Given the description of an element on the screen output the (x, y) to click on. 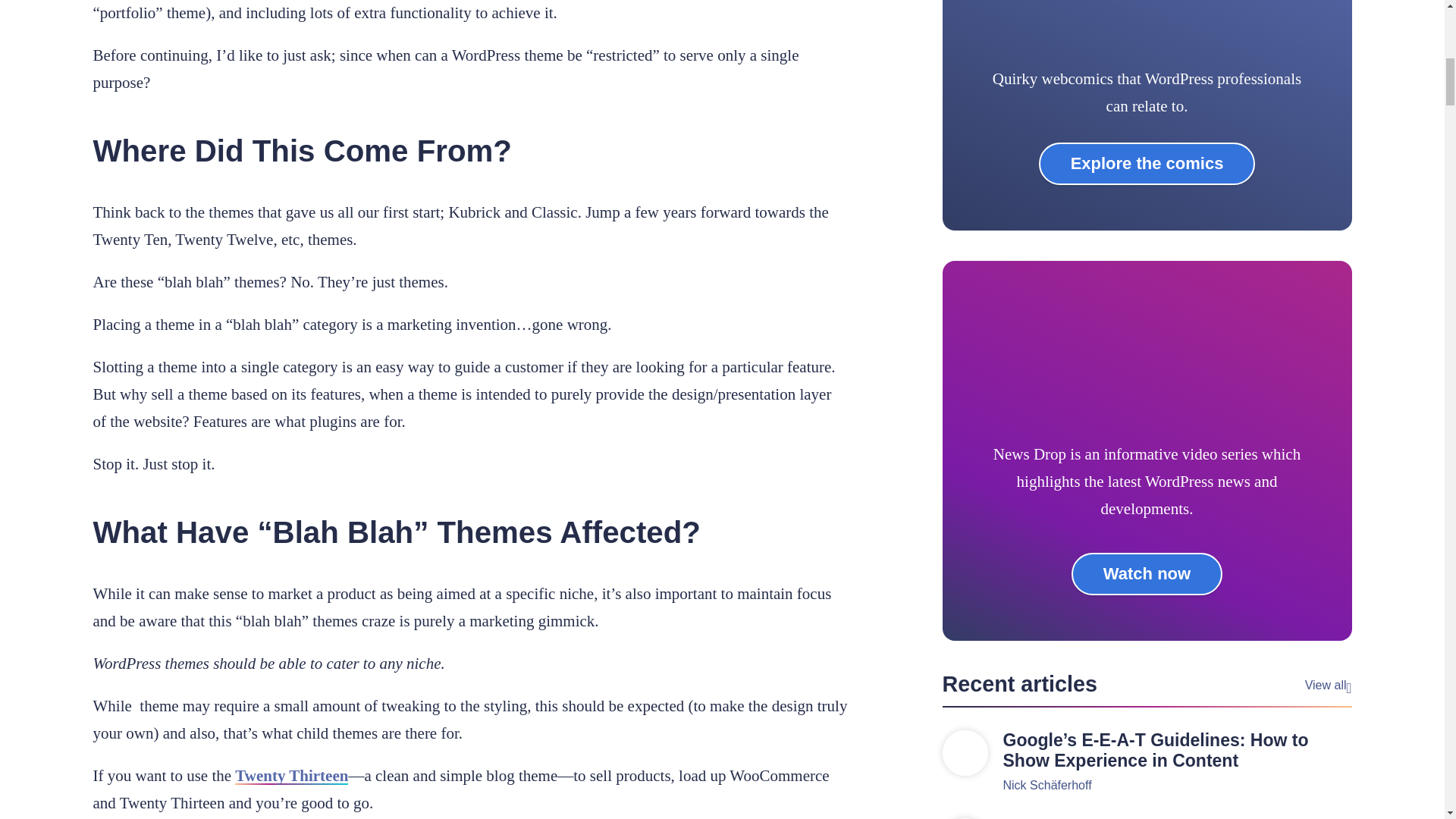
Explore the comics (1147, 163)
Twenty Thirteen (290, 775)
Watch now (1147, 573)
